Given the description of an element on the screen output the (x, y) to click on. 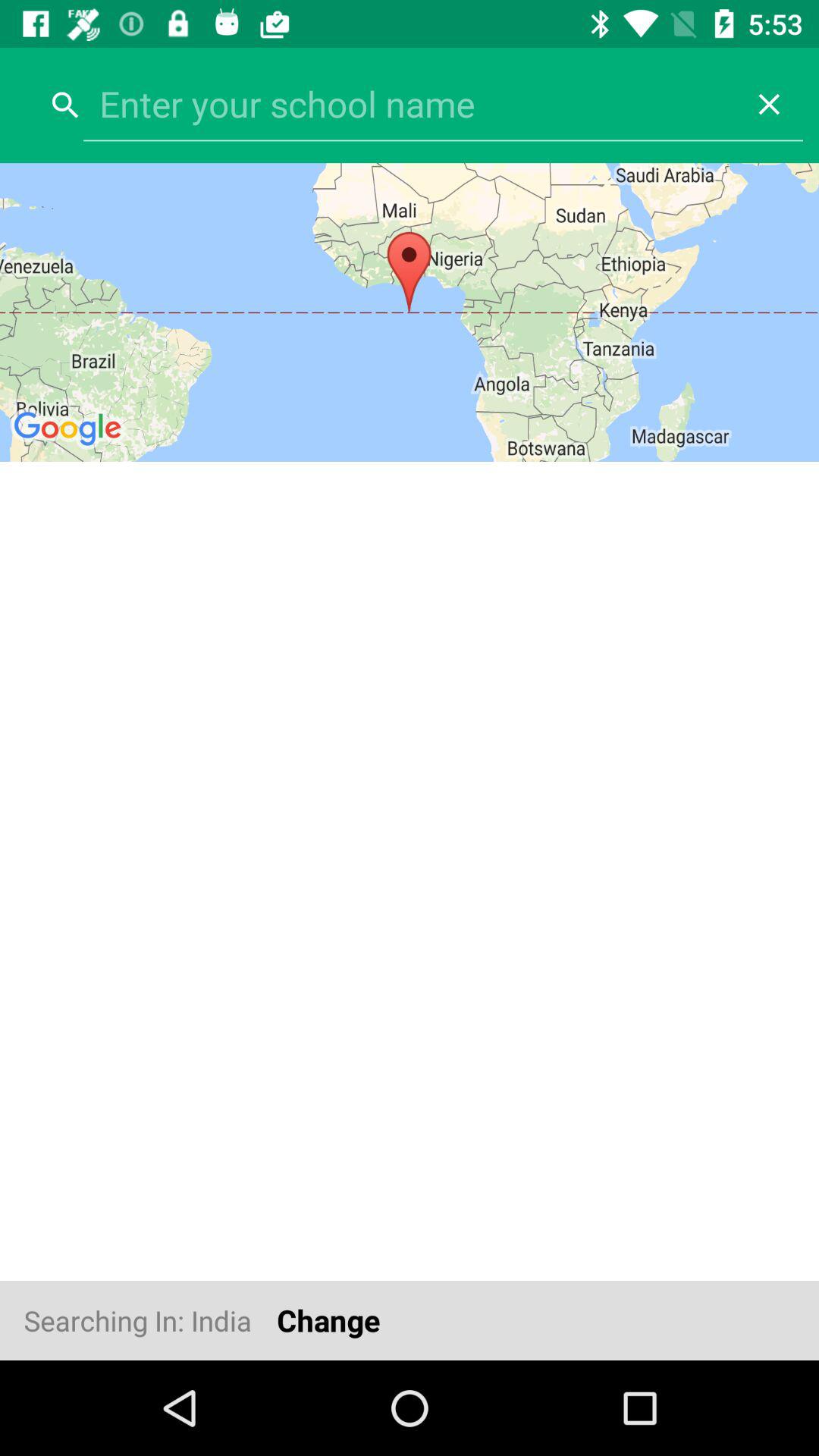
enter your school name (409, 103)
